Given the description of an element on the screen output the (x, y) to click on. 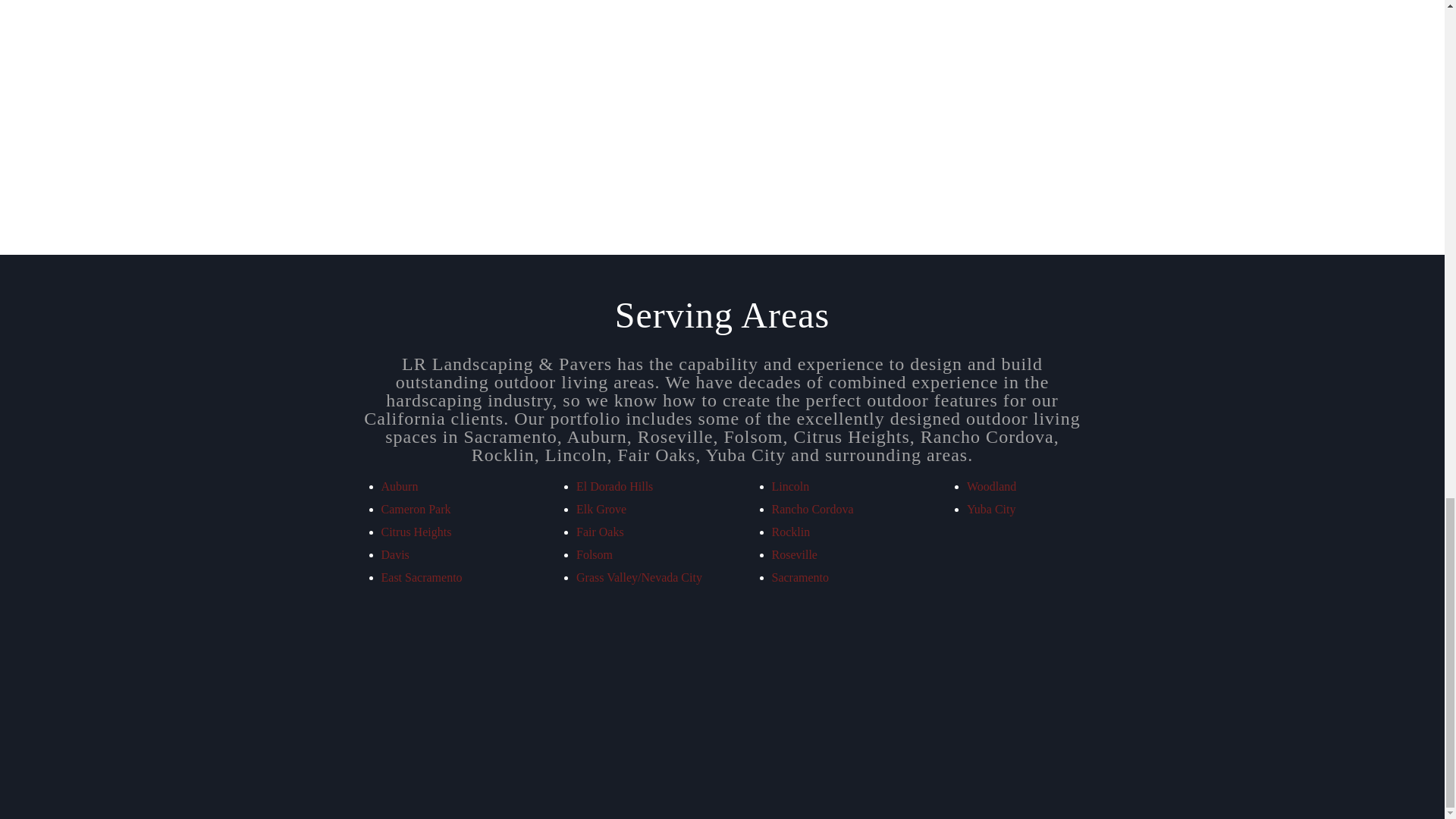
Fair Oaks (600, 531)
El Dorado Hills (614, 486)
Folsom (594, 554)
Davis (394, 554)
Auburn (398, 486)
Elk Grove (601, 508)
Citrus Heights (415, 531)
Cameron Park (414, 508)
East Sacramento (420, 576)
